Given the description of an element on the screen output the (x, y) to click on. 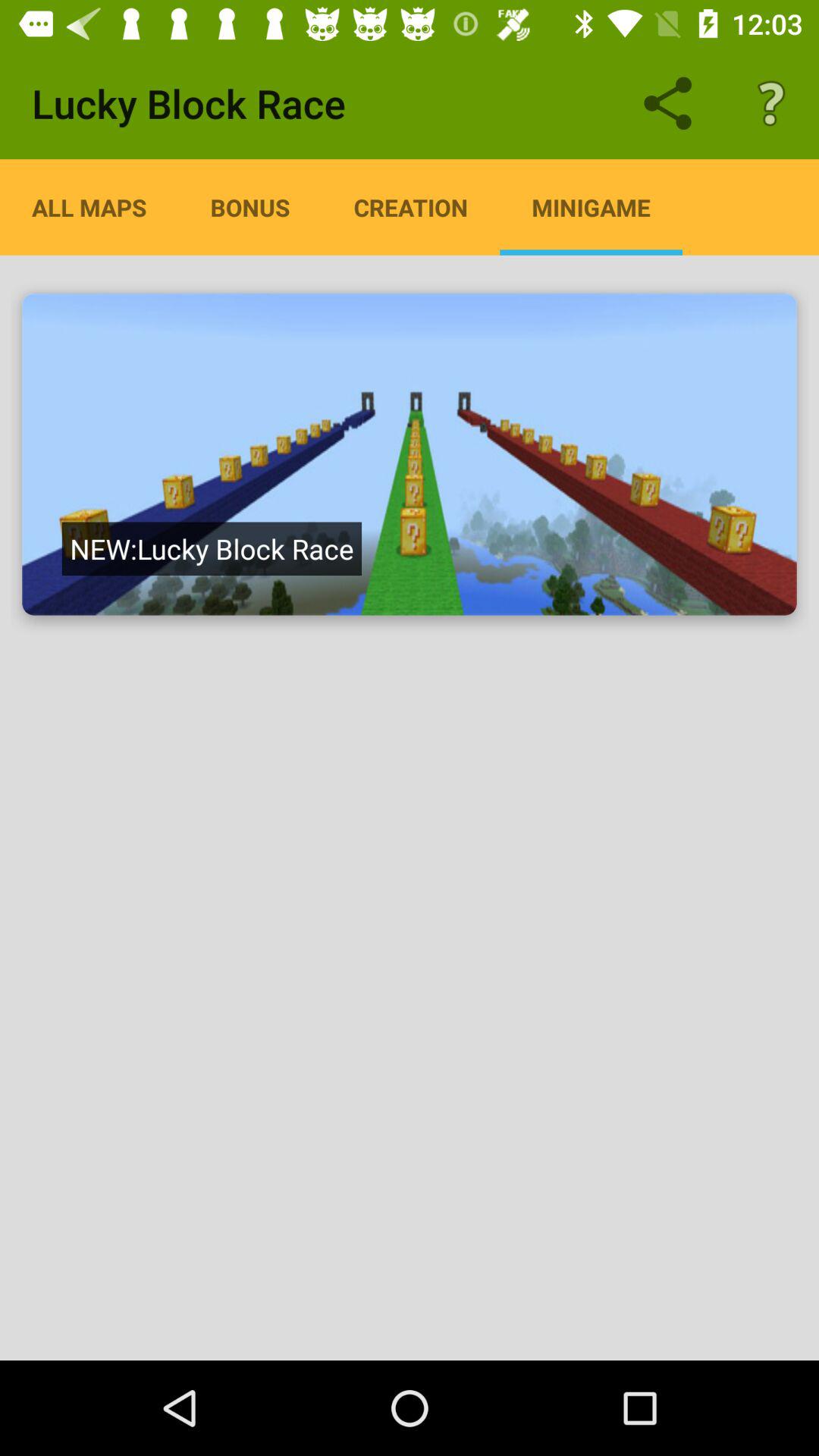
select the new lucky block (211, 548)
